Given the description of an element on the screen output the (x, y) to click on. 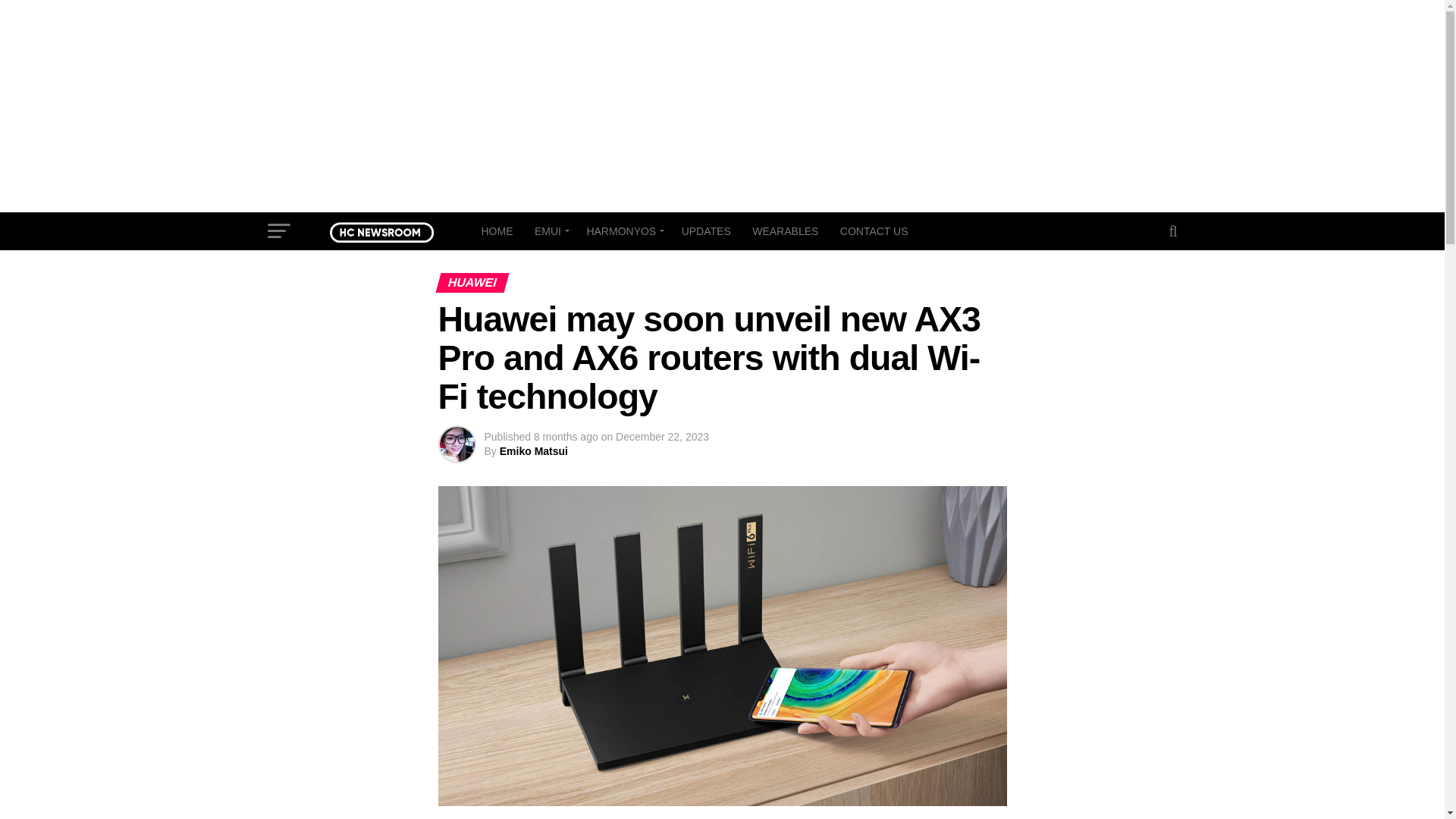
UPDATES (705, 231)
EMUI (549, 231)
Posts by Emiko Matsui (533, 451)
HARMONYOS (622, 231)
HOME (496, 231)
